Given the description of an element on the screen output the (x, y) to click on. 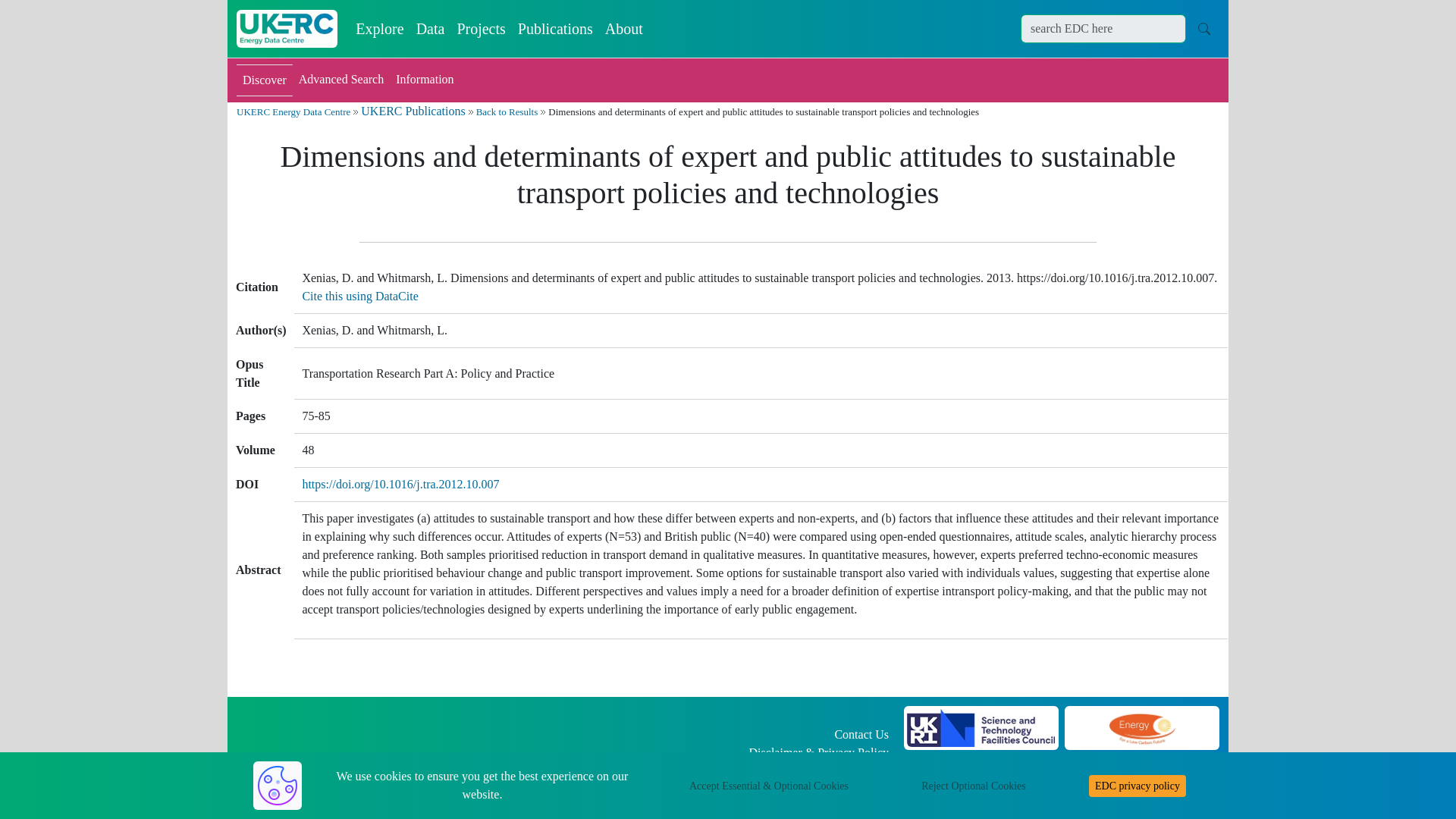
Discover (263, 80)
Privacy Policy (852, 752)
About (623, 28)
Data (430, 28)
Go (1204, 27)
Contact Us (861, 734)
Disclaimer (775, 752)
Projects (480, 28)
Cite this using DataCite (359, 295)
Back to Results (507, 111)
